Given the description of an element on the screen output the (x, y) to click on. 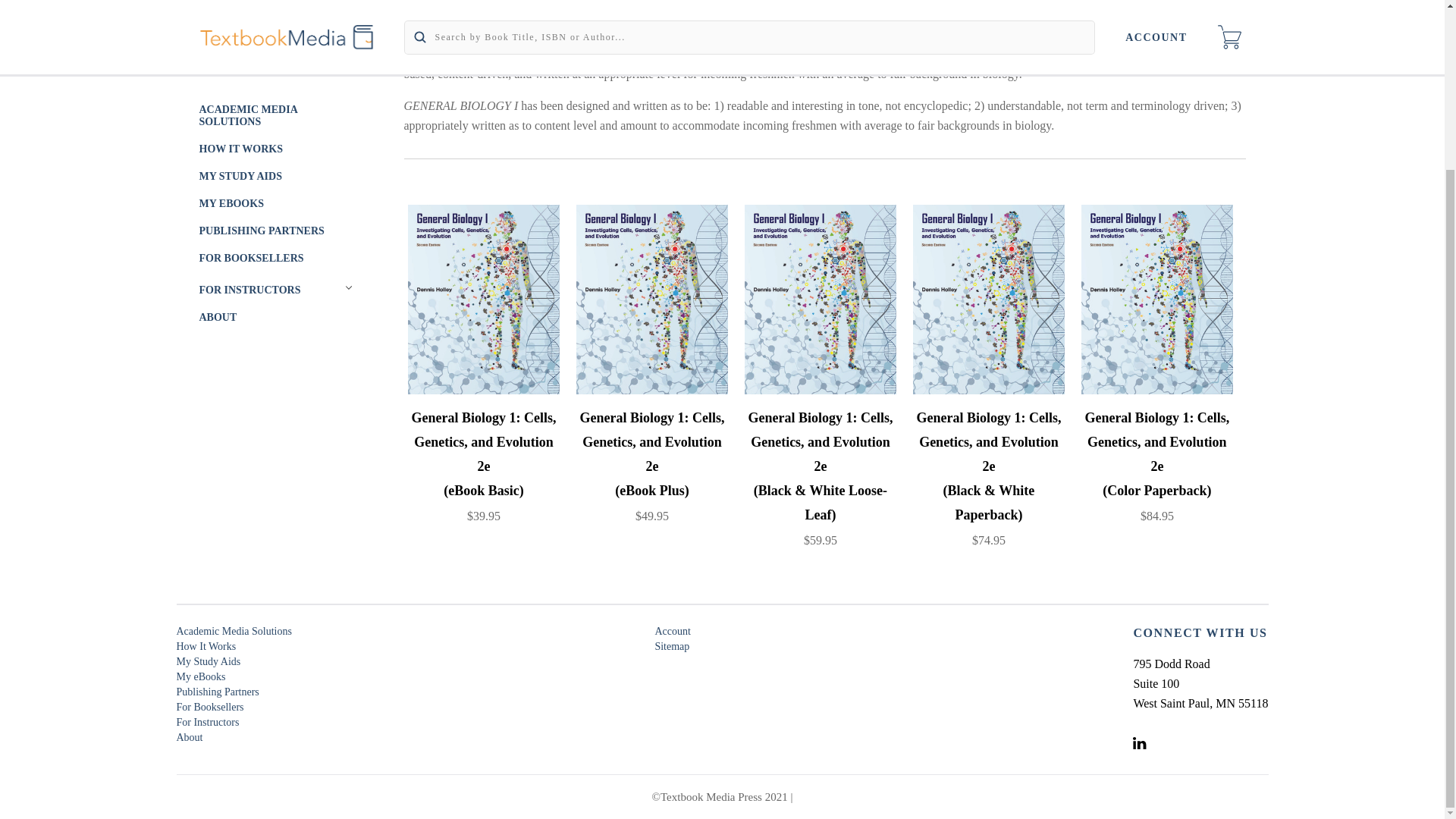
Display submenu (347, 2)
